Given the description of an element on the screen output the (x, y) to click on. 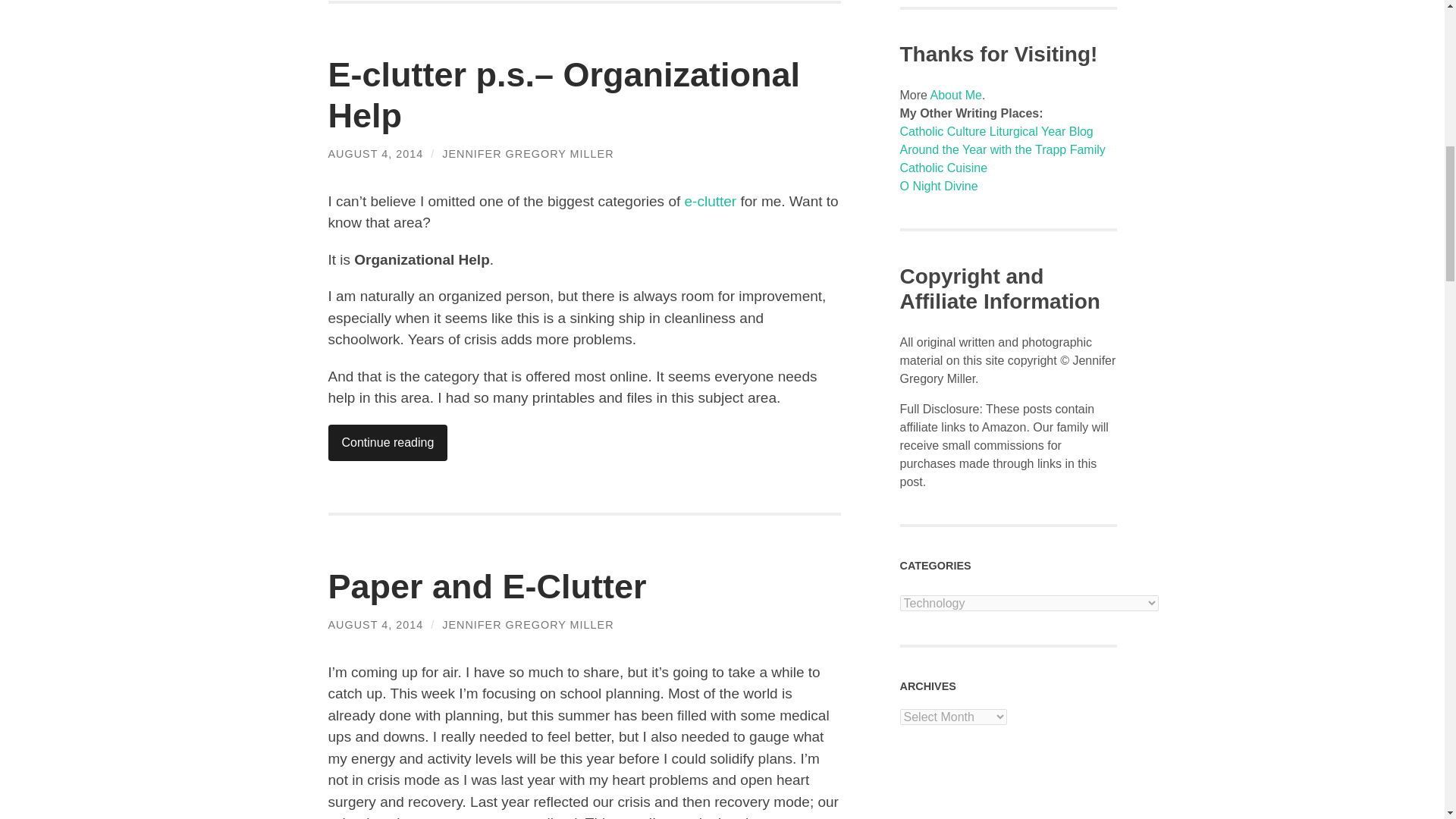
Posts by Jennifer Gregory Miller (527, 153)
Posts by Jennifer Gregory Miller (527, 624)
